Given the description of an element on the screen output the (x, y) to click on. 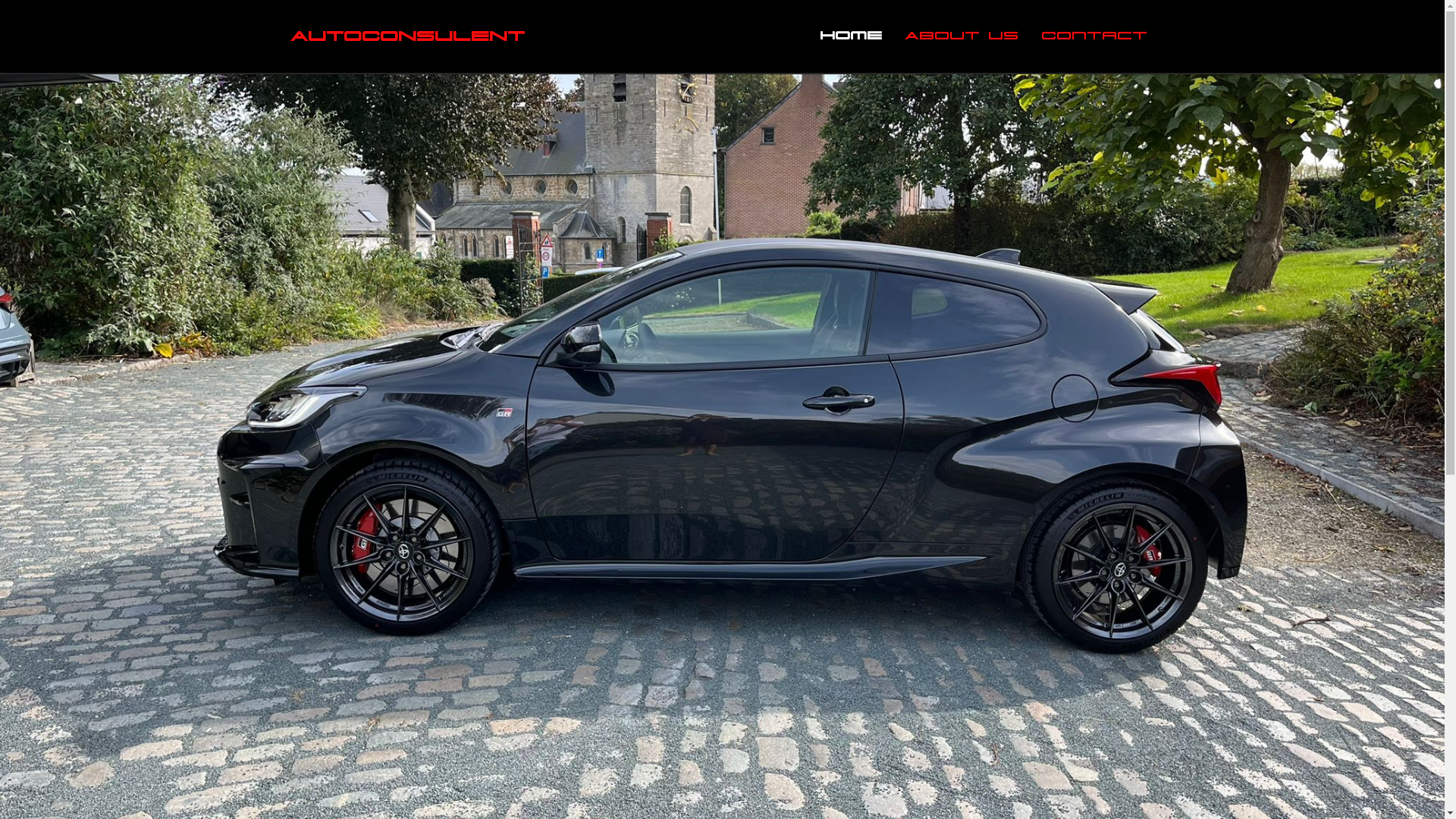
Contact Element type: text (1093, 36)
ABOUT US Element type: text (960, 36)
Home Element type: text (849, 36)
